Given the description of an element on the screen output the (x, y) to click on. 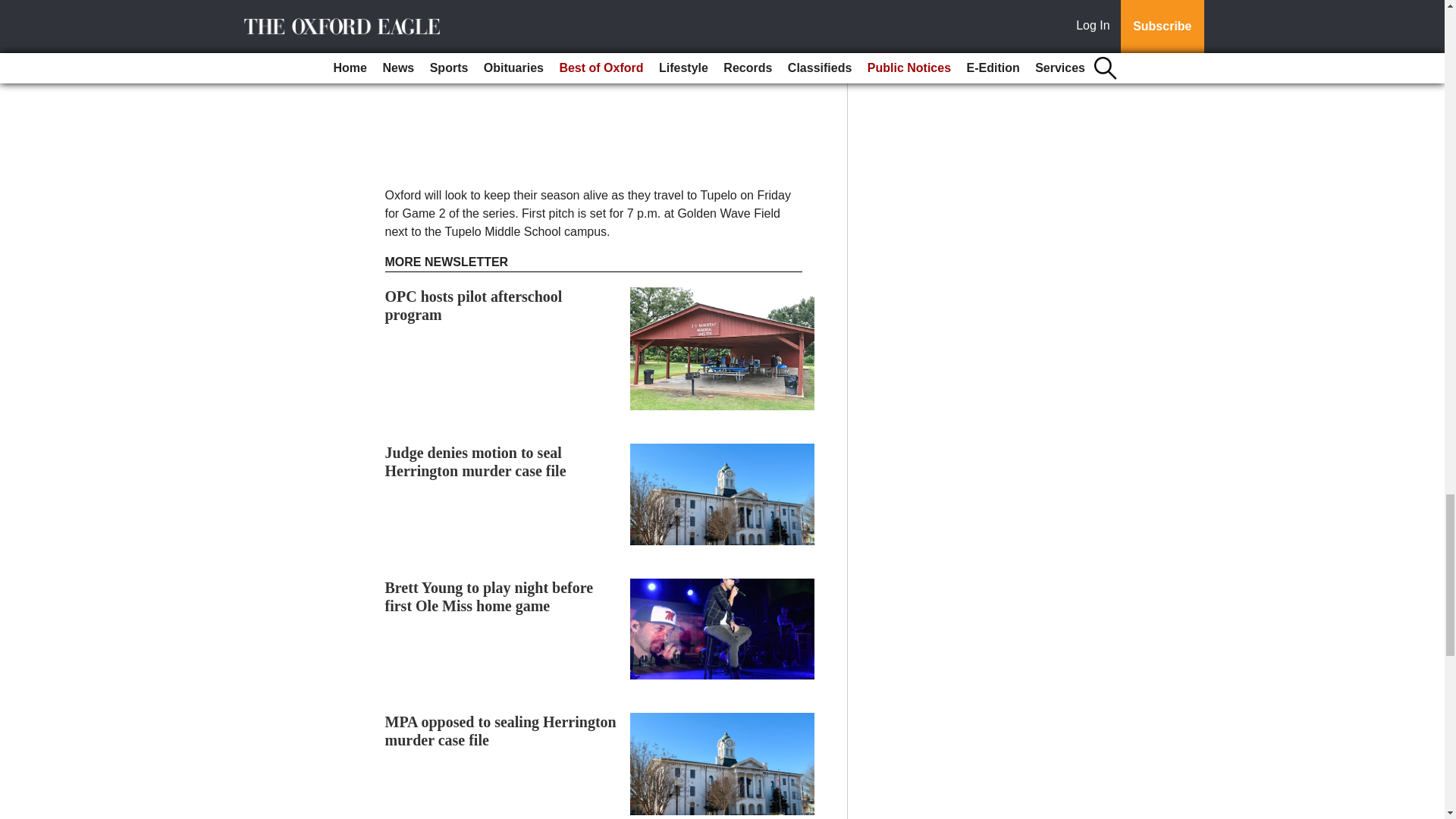
MPA opposed to sealing Herrington murder case file (500, 730)
Judge denies motion to seal Herrington murder case file (475, 461)
OPC hosts pilot afterschool program (473, 305)
Judge denies motion to seal Herrington murder case file (475, 461)
OPC hosts pilot afterschool program (473, 305)
Brett Young to play night before first Ole Miss home game (489, 596)
MPA opposed to sealing Herrington murder case file (500, 730)
Brett Young to play night before first Ole Miss home game (489, 596)
